Given the description of an element on the screen output the (x, y) to click on. 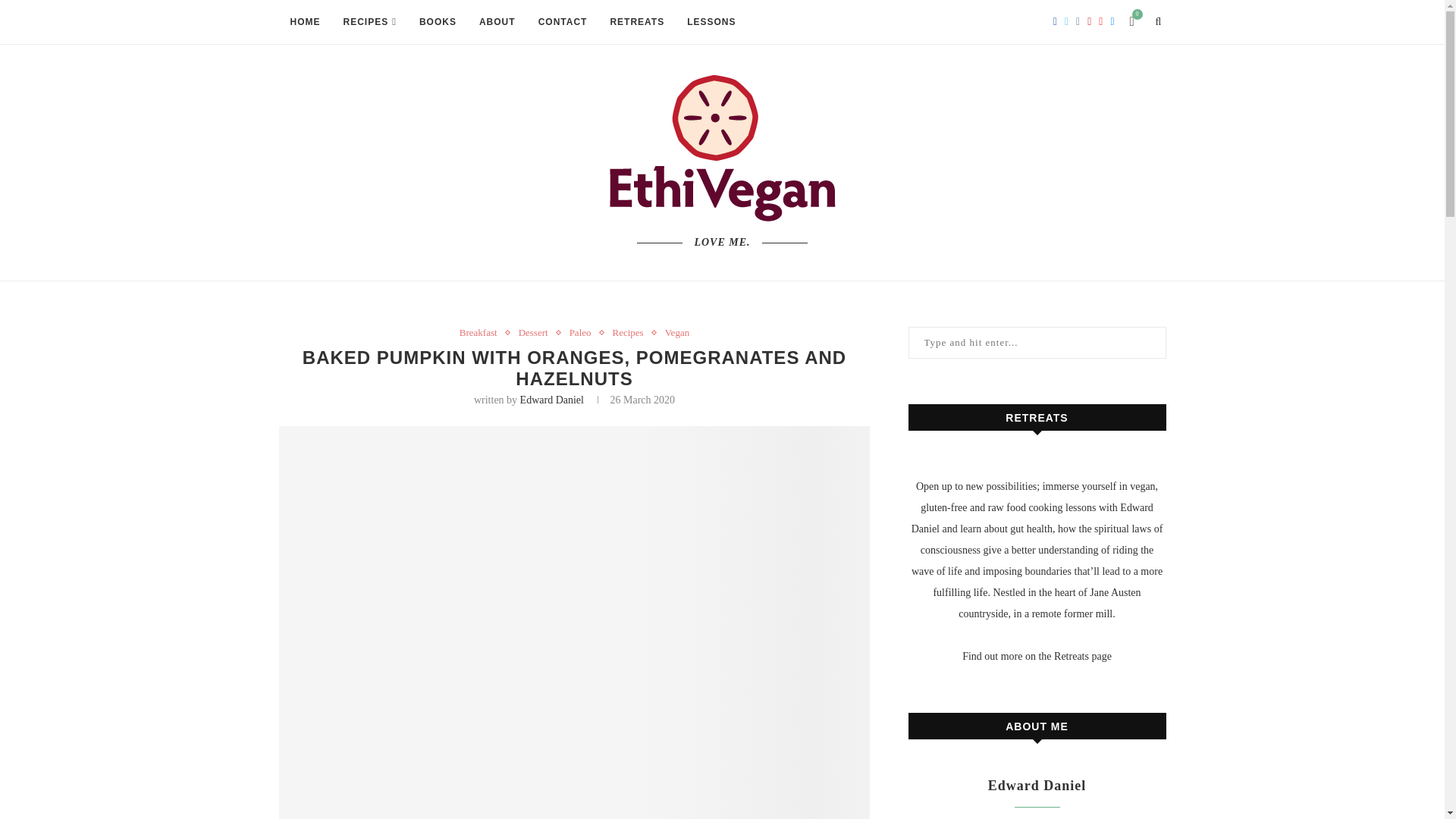
BOOKS (437, 22)
RETREATS (636, 22)
HOME (305, 22)
LESSONS (710, 22)
Paleo (583, 332)
Edward Daniel (551, 399)
RECIPES (369, 22)
Recipes (631, 332)
ABOUT (497, 22)
